Given the description of an element on the screen output the (x, y) to click on. 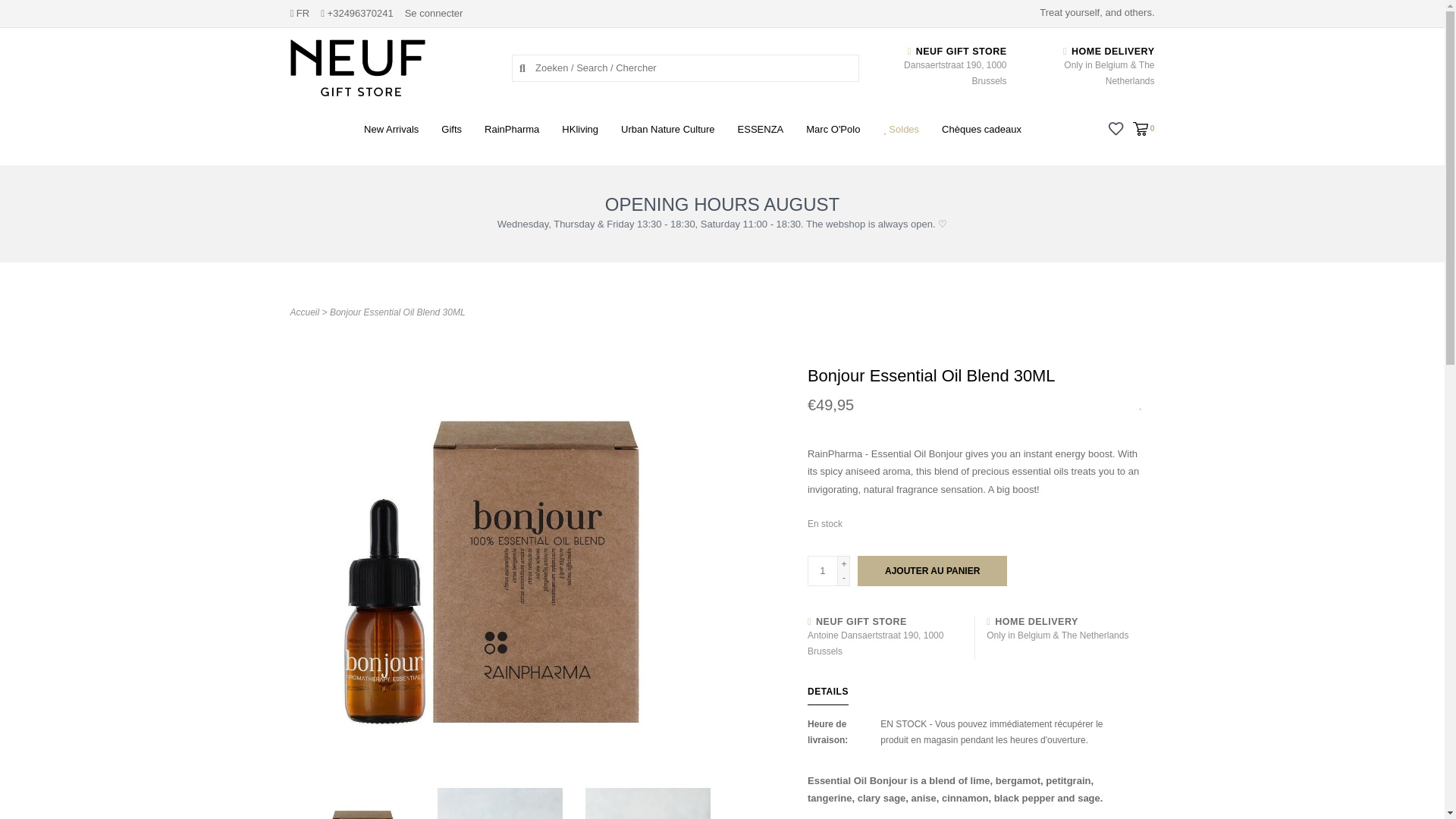
RainPharma (515, 133)
1 (823, 571)
Treat yourself, and others. (389, 67)
Se connecter (433, 12)
FR (298, 12)
Mon compte (433, 12)
RainPharma (515, 133)
Langue (298, 12)
Gifts (454, 133)
Urban Nature Culture (671, 133)
